Given the description of an element on the screen output the (x, y) to click on. 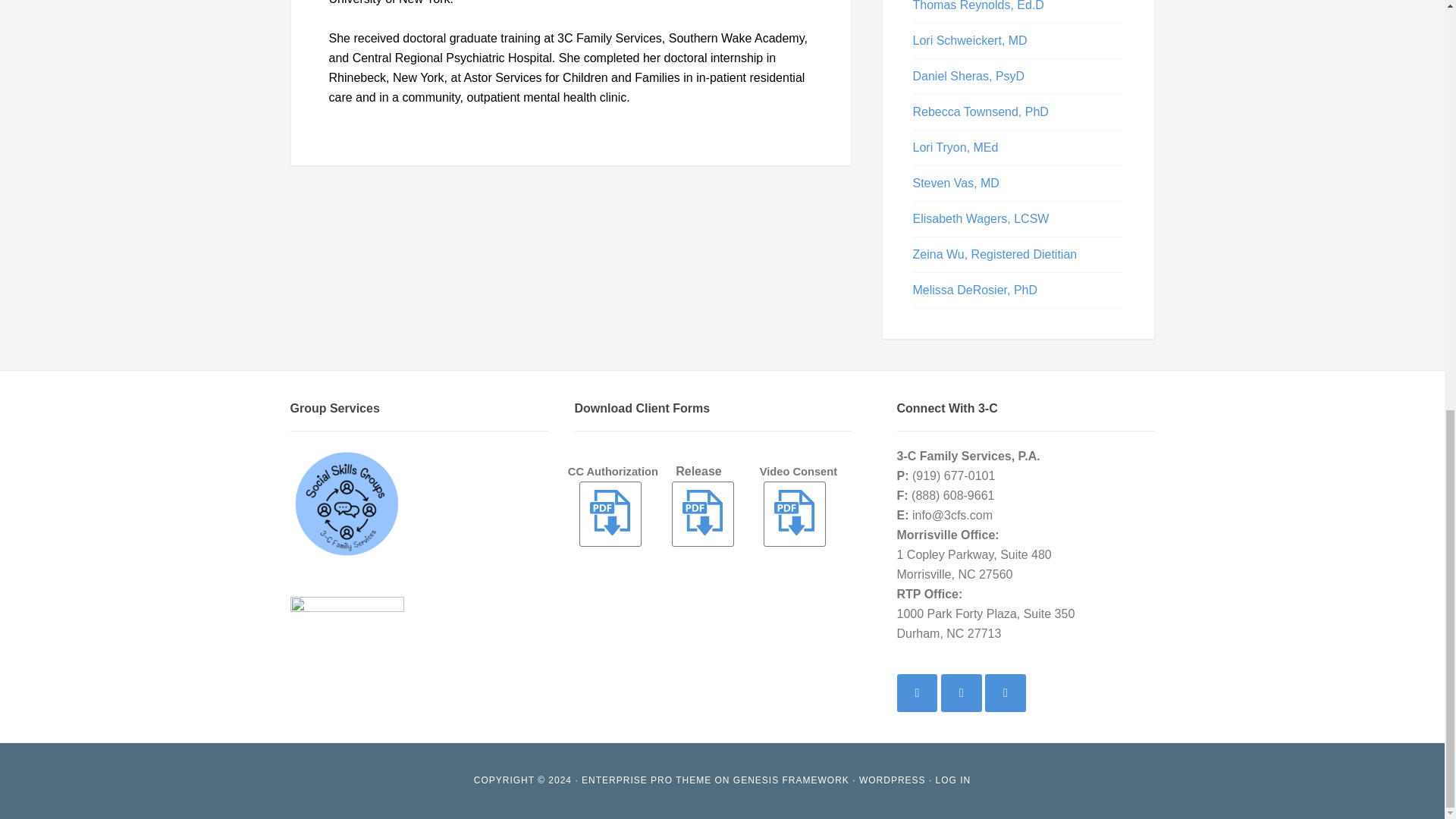
Group Services (346, 503)
